Given the description of an element on the screen output the (x, y) to click on. 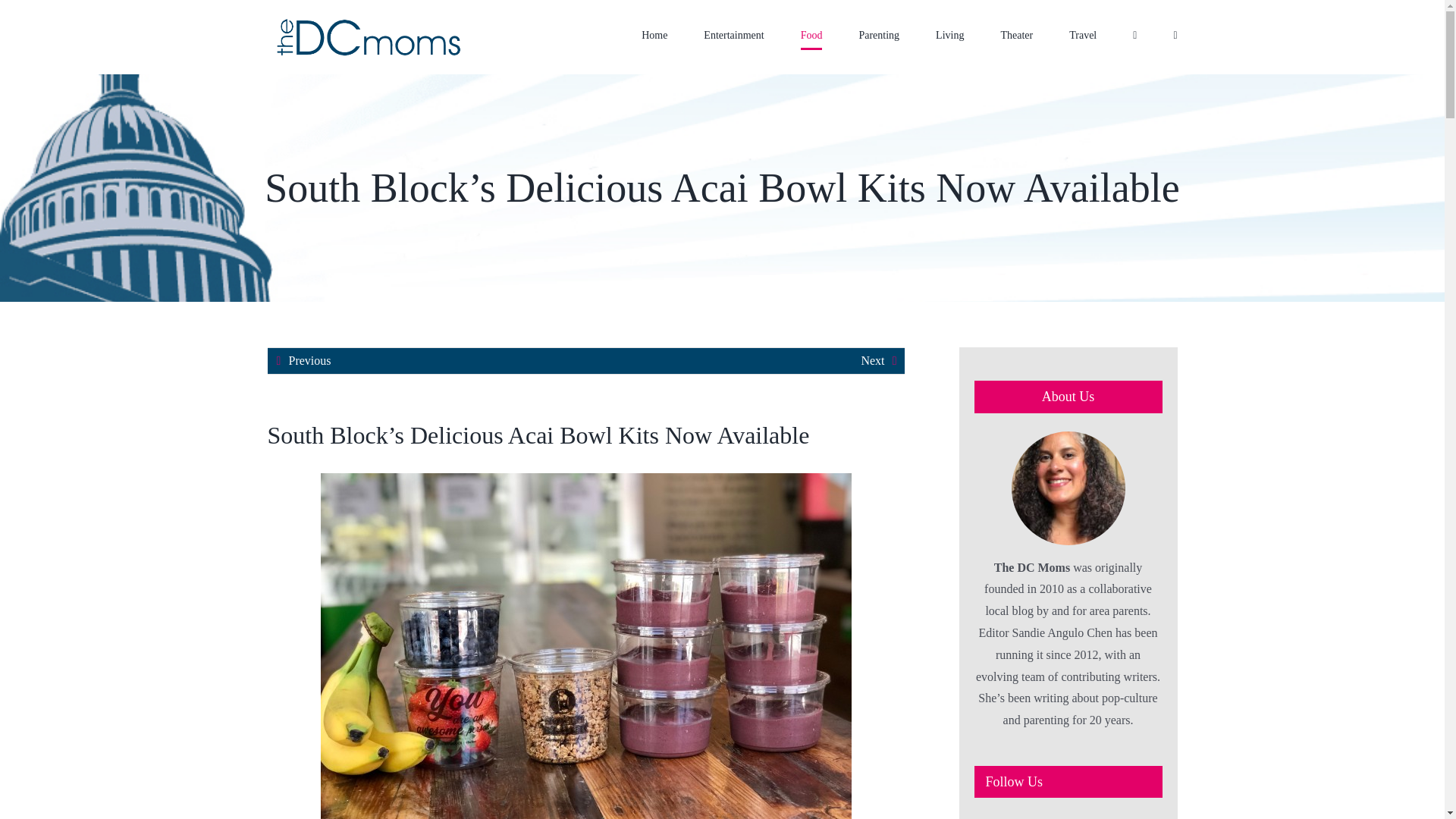
Next (871, 360)
Previous (309, 360)
